Given the description of an element on the screen output the (x, y) to click on. 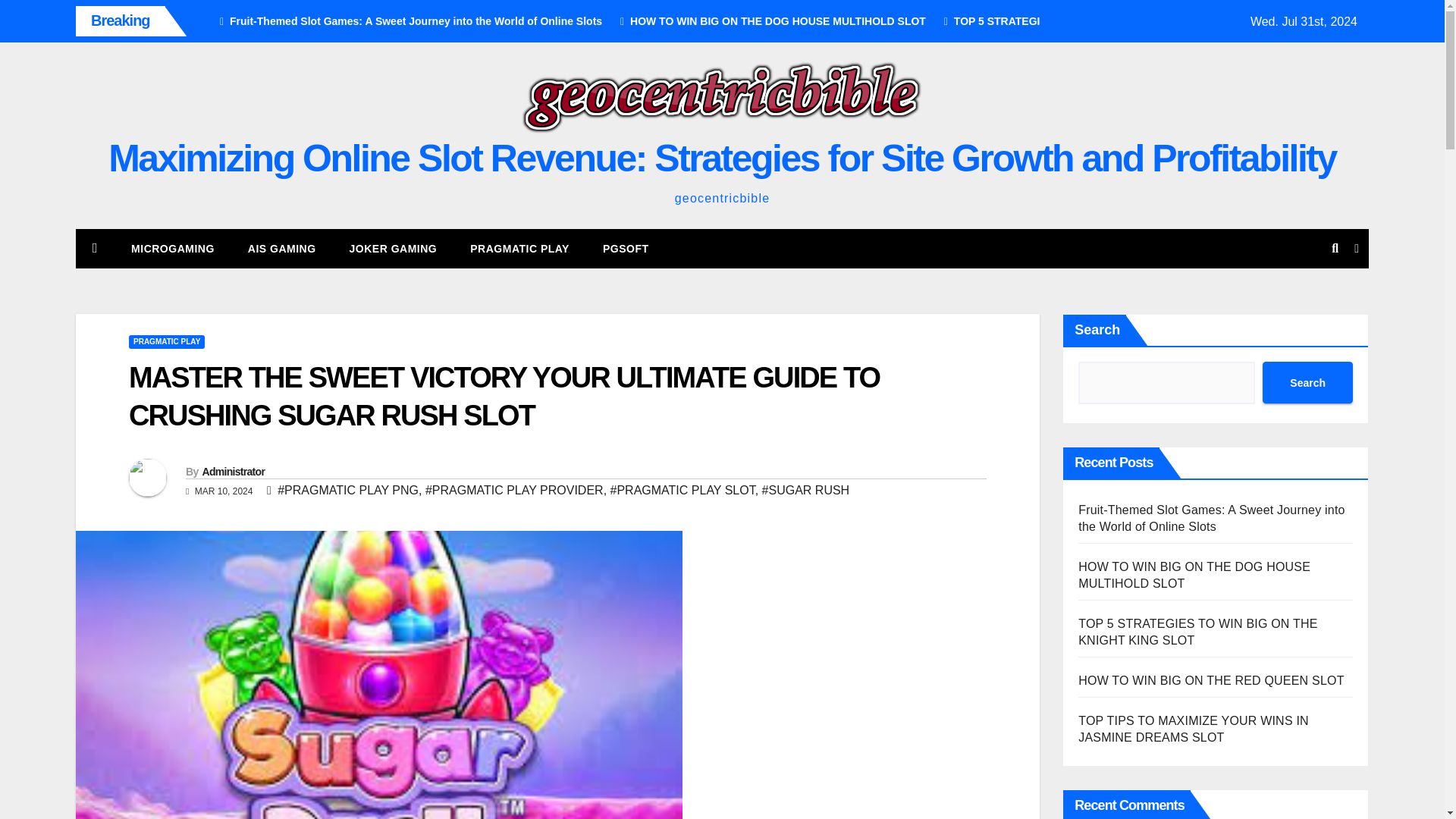
JOKER GAMING (393, 248)
PGSOFT (625, 248)
AIS GAMING (282, 248)
TOP 5 STRATEGIES TO WIN BIG ON THE KNIGHT KING SLOT (1098, 21)
MICROGAMING (173, 248)
PRAGMATIC PLAY (519, 248)
JOKER GAMING (393, 248)
PGSOFT (625, 248)
PRAGMATIC PLAY (167, 341)
AIS GAMING (282, 248)
PRAGMATIC PLAY (519, 248)
HOW TO WIN BIG ON THE DOG HOUSE MULTIHOLD SLOT (766, 21)
MICROGAMING (173, 248)
